Given the description of an element on the screen output the (x, y) to click on. 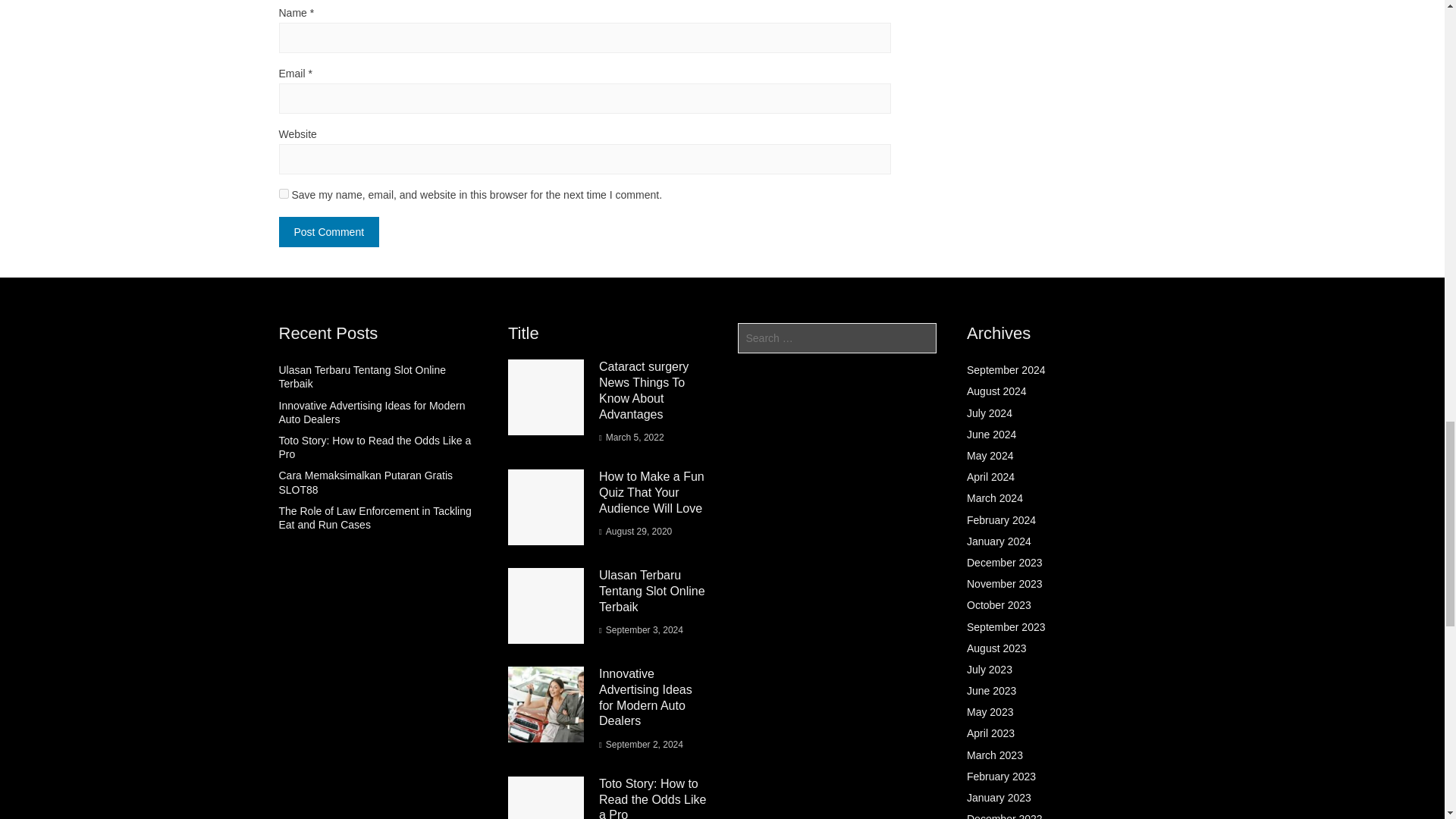
yes (283, 194)
Toto Story: How to Read the Odds Like a Pro (375, 447)
The Role of Law Enforcement in Tackling Eat and Run Cases (375, 517)
Post Comment (329, 232)
Post Comment (329, 232)
Ulasan Terbaru Tentang Slot Online Terbaik (362, 376)
Innovative Advertising Ideas for Modern Auto Dealers (372, 412)
Cara Memaksimalkan Putaran Gratis SLOT88 (365, 482)
